Given the description of an element on the screen output the (x, y) to click on. 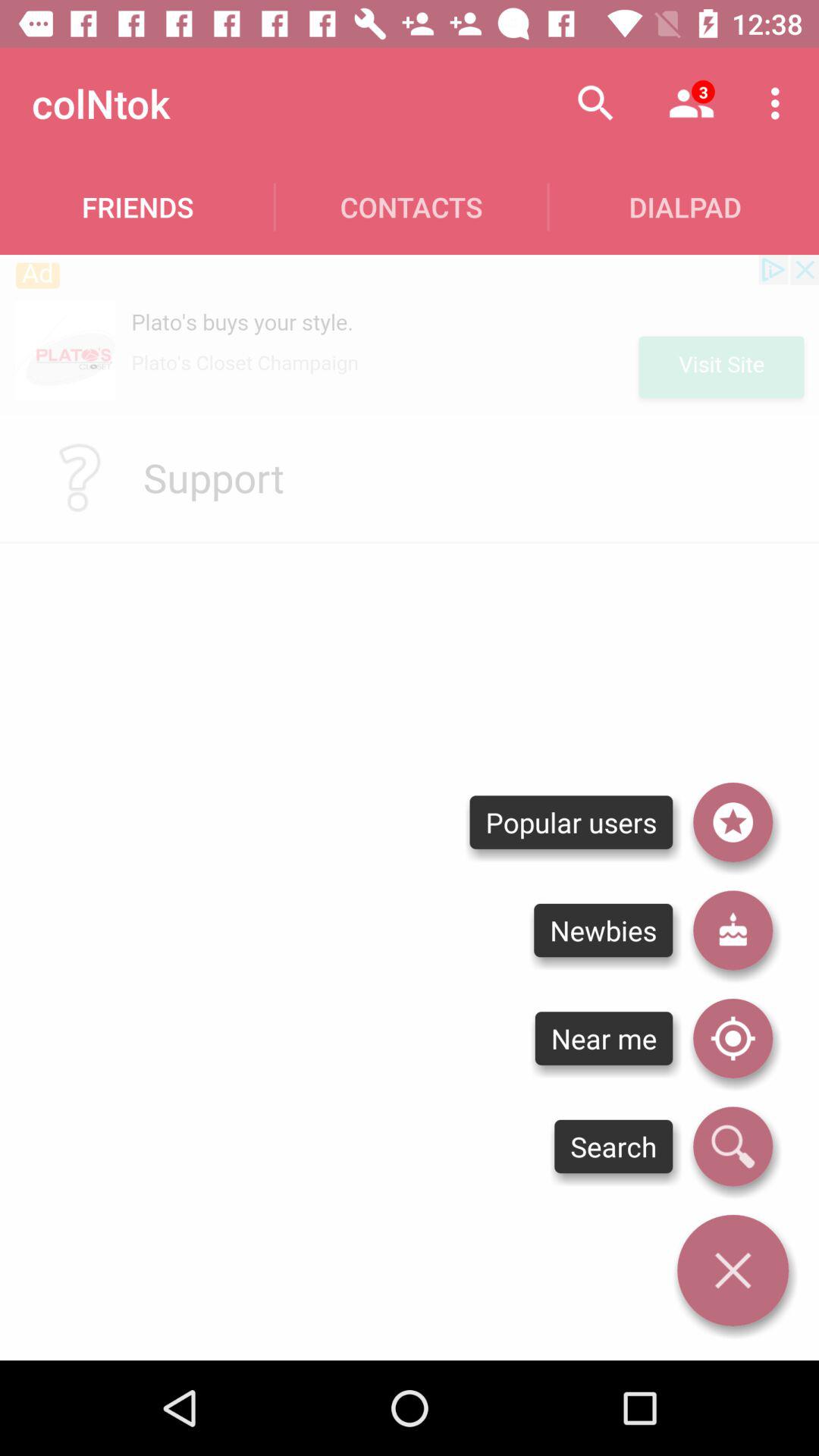
scroll to the near me icon (603, 1038)
